Given the description of an element on the screen output the (x, y) to click on. 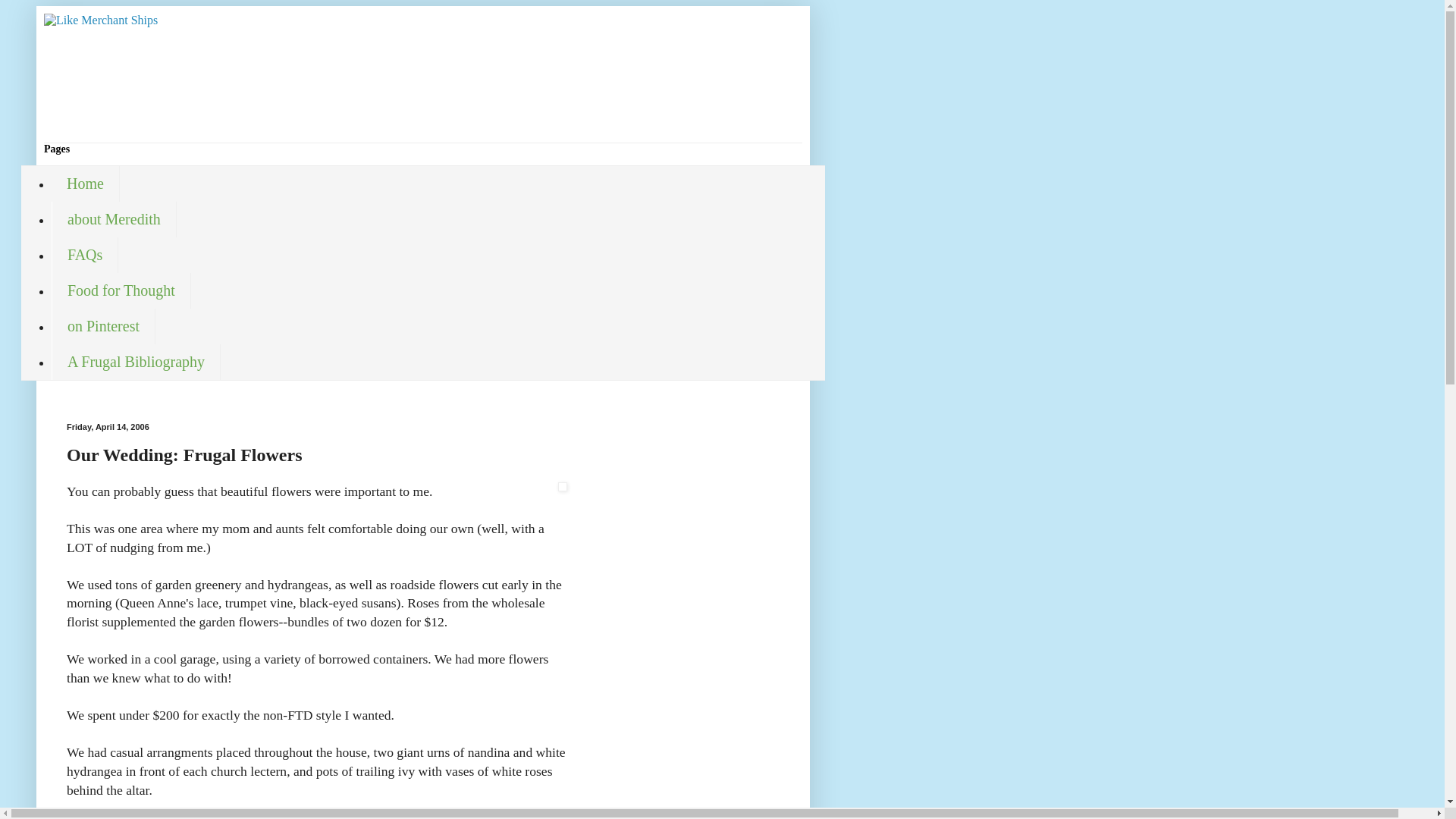
FAQs (83, 254)
A Frugal Bibliography (135, 361)
about Meredith (113, 219)
on Pinterest (102, 325)
Home (84, 183)
Food for Thought (120, 290)
